Given the description of an element on the screen output the (x, y) to click on. 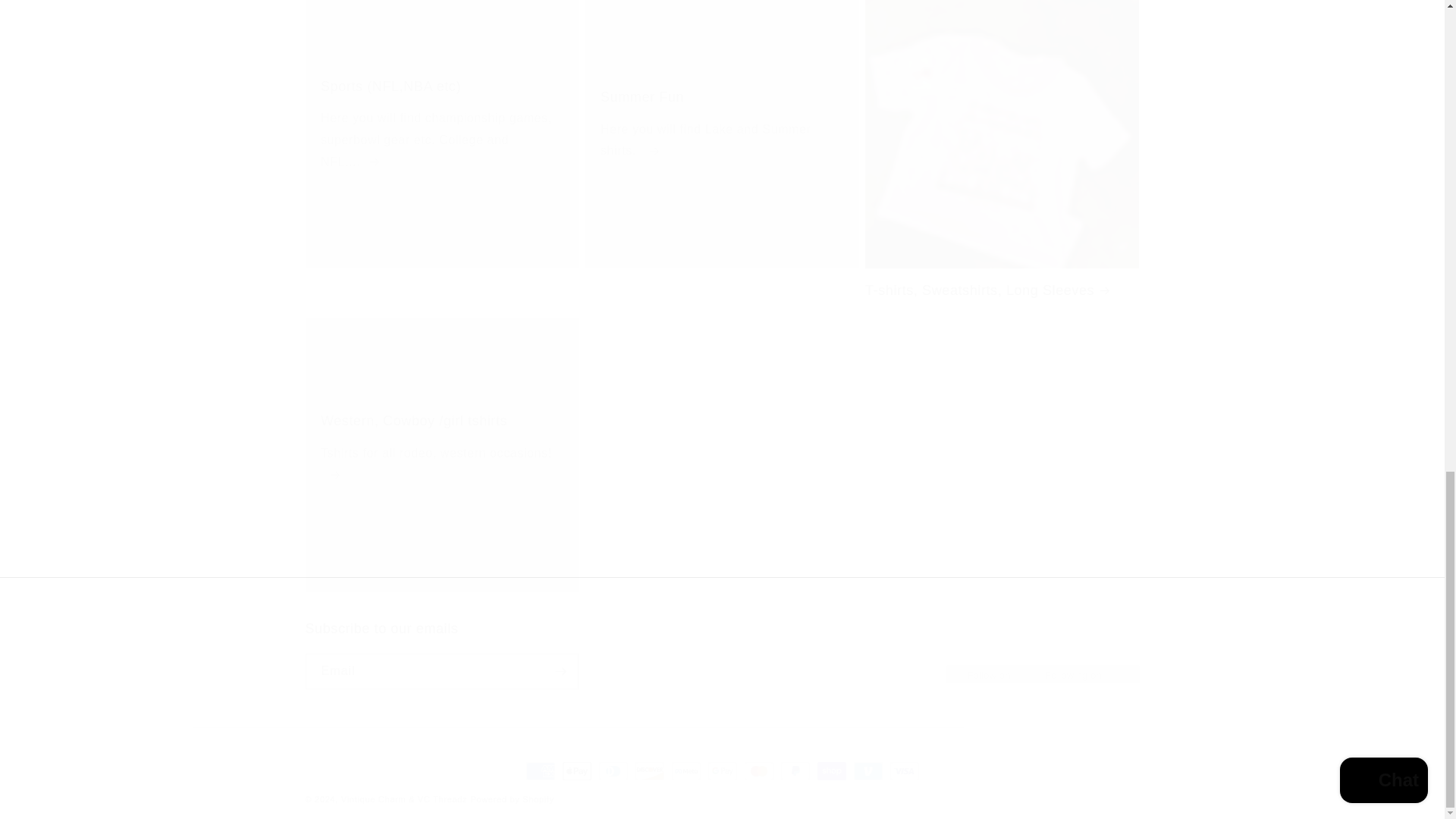
T-shirts, Sweatshirts, Long Sleeves (1001, 290)
Powered by Shopify (721, 653)
Summer Fun (511, 798)
